Given the description of an element on the screen output the (x, y) to click on. 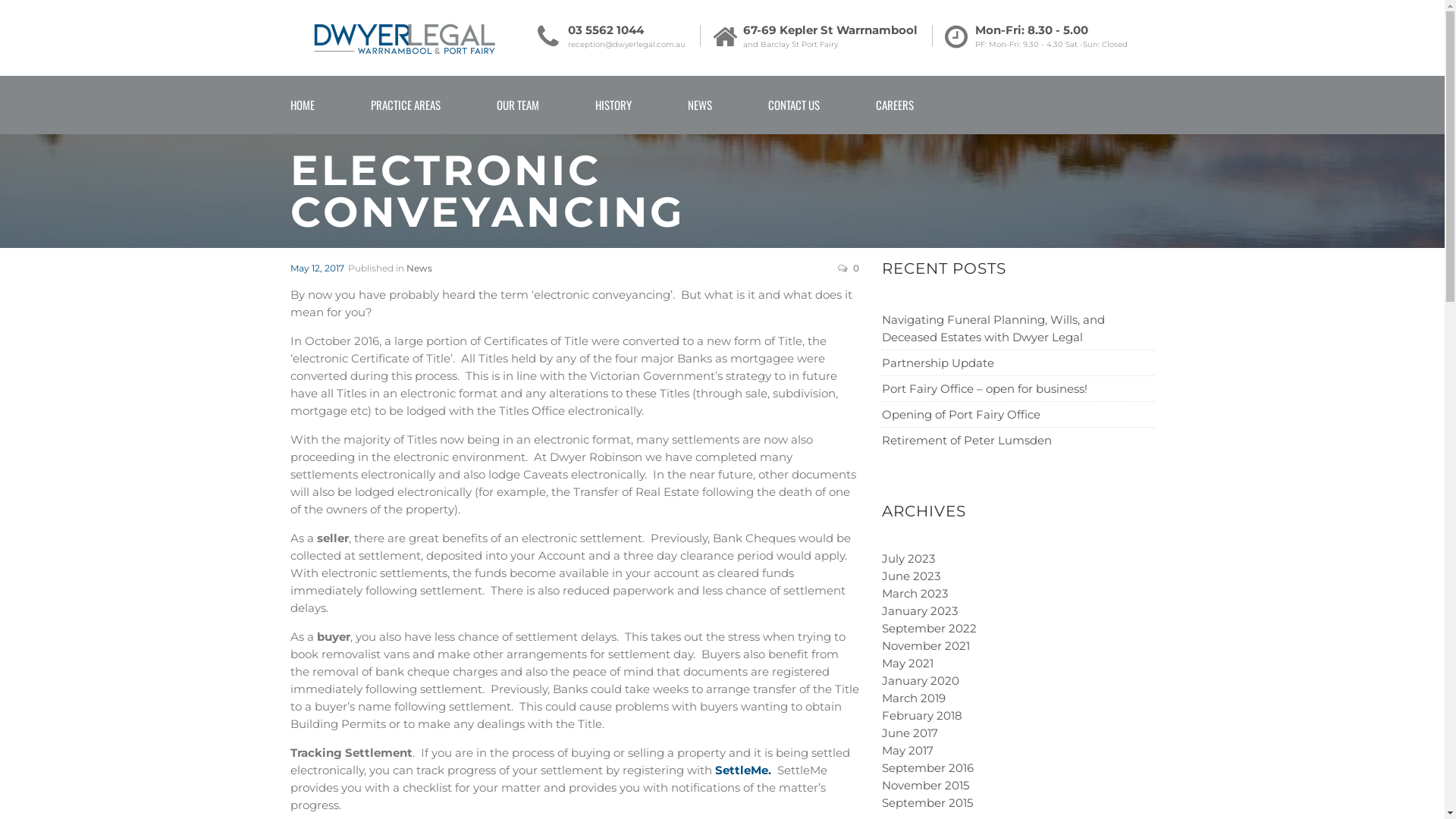
June 2017 Element type: text (909, 732)
Partnership Update Element type: text (937, 362)
January 2020 Element type: text (919, 680)
CAREERS Element type: text (894, 104)
NEWS Element type: text (699, 104)
June 2023 Element type: text (910, 575)
reception@dwyerlegal.com.au Element type: text (625, 44)
May 2017 Element type: text (906, 750)
CONTACT US Element type: text (793, 104)
November 2015 Element type: text (924, 785)
PRACTICE AREAS Element type: text (404, 104)
May 2021 Element type: text (906, 662)
March 2023 Element type: text (914, 593)
July 2023 Element type: text (907, 558)
Retirement of Peter Lumsden Element type: text (966, 440)
January 2023 Element type: text (919, 610)
Opening of Port Fairy Office Element type: text (960, 414)
September 2022 Element type: text (928, 628)
March 2019 Element type: text (912, 697)
SettleMe. Element type: text (742, 769)
03 5562 1044 Element type: text (625, 28)
February 2018 Element type: text (921, 715)
News Element type: text (419, 267)
HOME Element type: text (301, 104)
September 2015 Element type: text (926, 802)
OUR TEAM Element type: text (516, 104)
0 Element type: text (854, 267)
HISTORY Element type: text (612, 104)
September 2016 Element type: text (926, 767)
November 2021 Element type: text (925, 645)
